Given the description of an element on the screen output the (x, y) to click on. 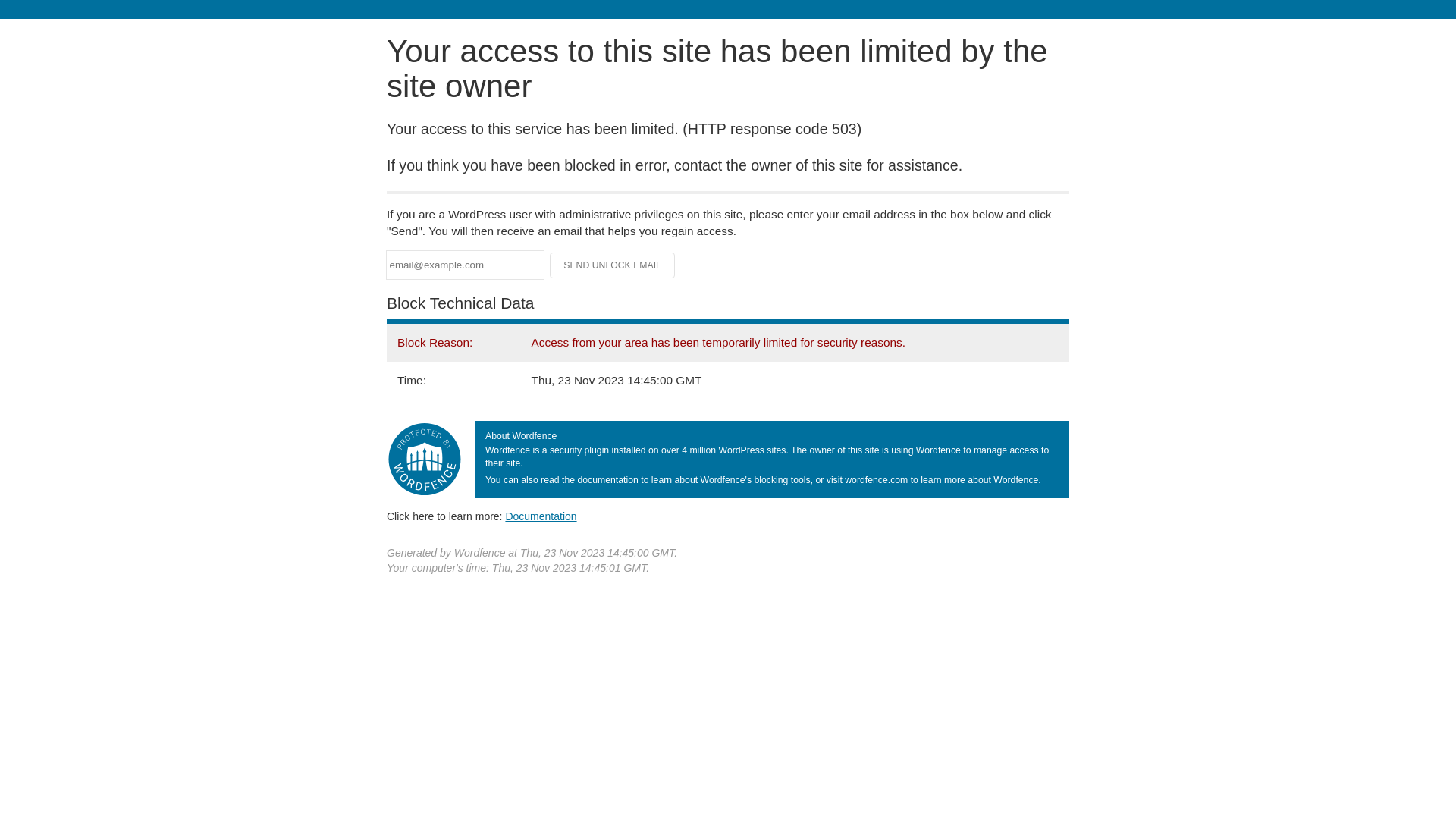
Send Unlock Email Element type: text (612, 265)
Documentation Element type: text (540, 516)
